Given the description of an element on the screen output the (x, y) to click on. 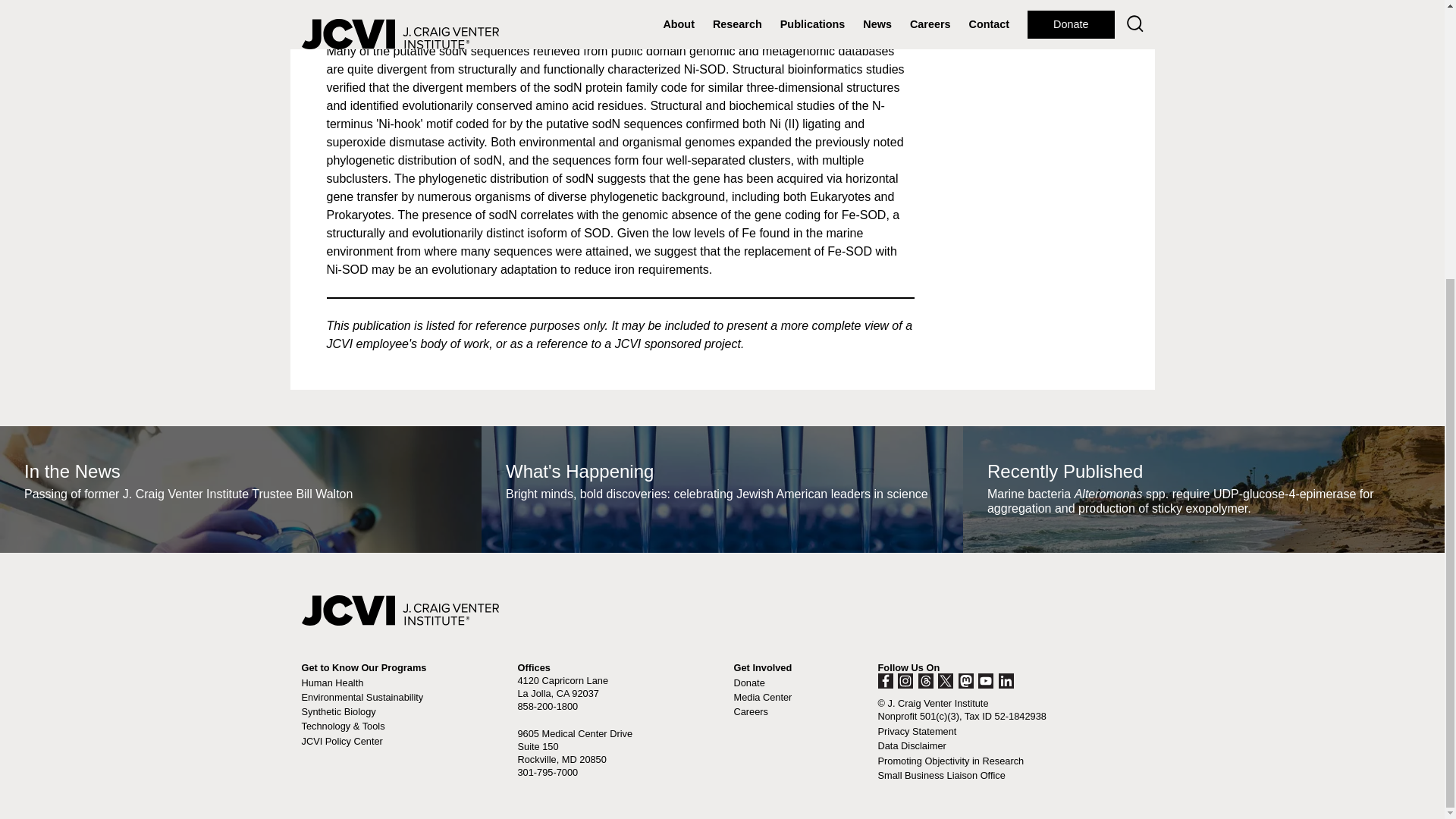
Human Health (332, 682)
Careers (750, 711)
Donate (749, 682)
Media Center (762, 696)
Environmental Sustainability (362, 696)
JCVI Policy Center (341, 740)
Synthetic Biology (338, 711)
